Given the description of an element on the screen output the (x, y) to click on. 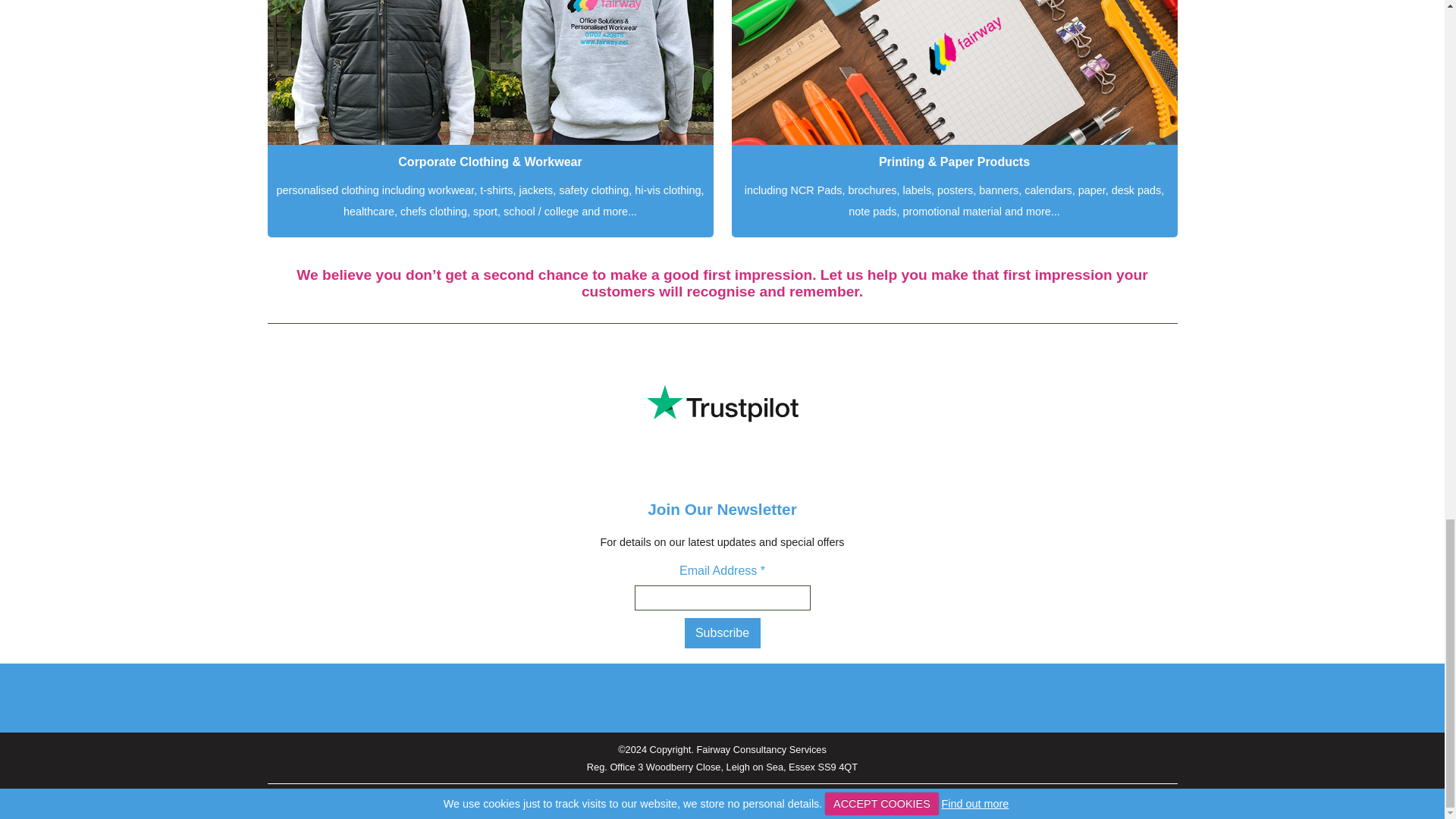
Subscribe (722, 633)
Customer reviews powered by Trustpilot (721, 403)
